Given the description of an element on the screen output the (x, y) to click on. 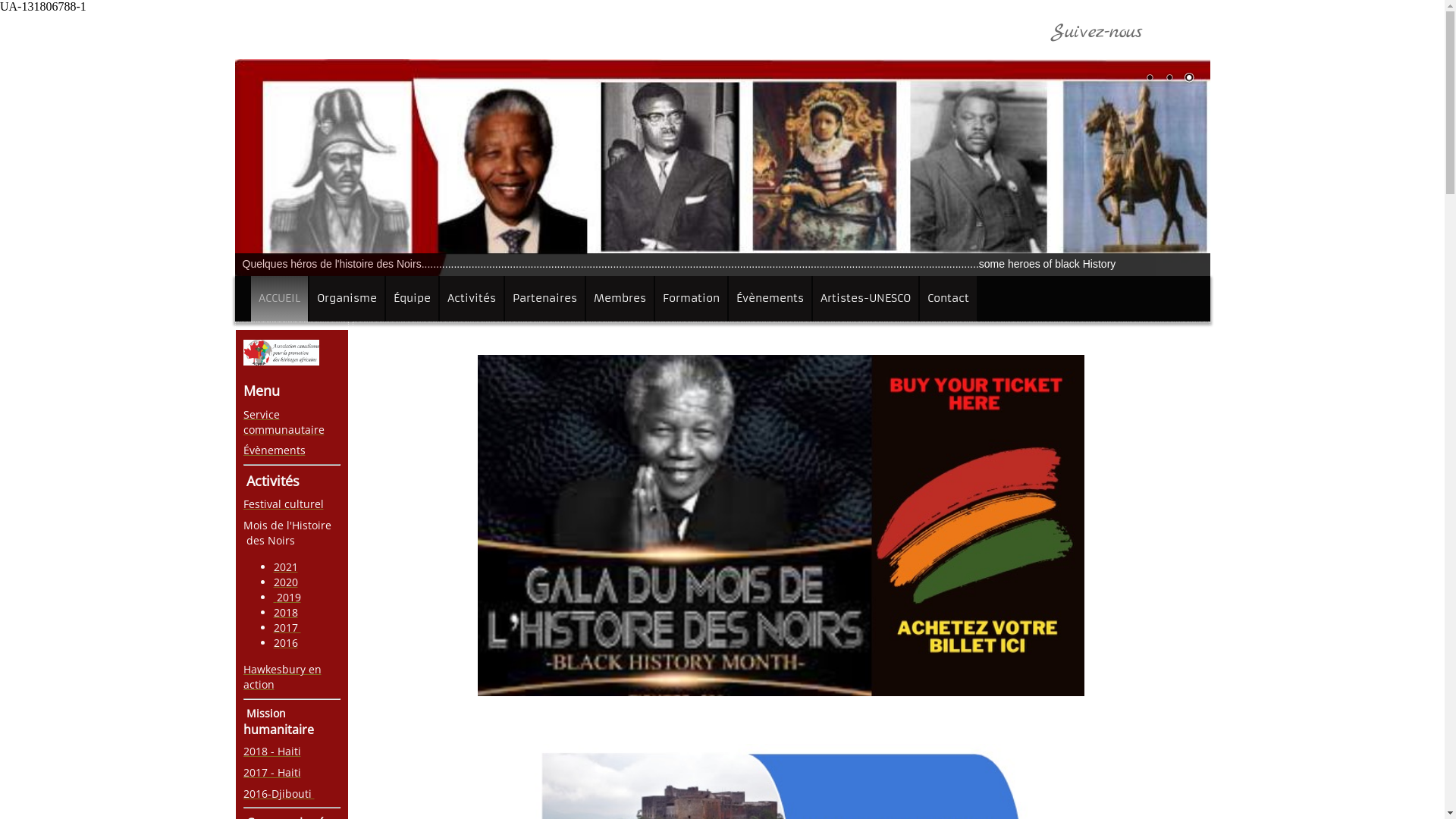
Partenaires Element type: text (544, 298)
2018 Element type: text (285, 612)
2020 Element type: text (285, 581)
Contact Element type: text (947, 298)
1 Element type: text (1148, 78)
Service communautaire Element type: text (282, 421)
Festival culturel Element type: text (282, 503)
2019 Element type: text (288, 596)
2017  Element type: text (286, 627)
  Element type: text (274, 596)
Artistes-UNESCO Element type: text (865, 298)
2017 - Haiti Element type: text (271, 772)
ACCUEIL Element type: text (278, 298)
2016 Element type: text (285, 642)
3 Element type: text (1187, 78)
2018 - Haiti Element type: text (271, 750)
2021 Element type: text (285, 566)
Membres Element type: text (618, 298)
2 Element type: text (1168, 78)
Organisme Element type: text (346, 298)
2016-Djibouti  Element type: text (277, 792)
Formation Element type: text (691, 298)
Hawkesbury en action Element type: text (281, 676)
